Given the description of an element on the screen output the (x, y) to click on. 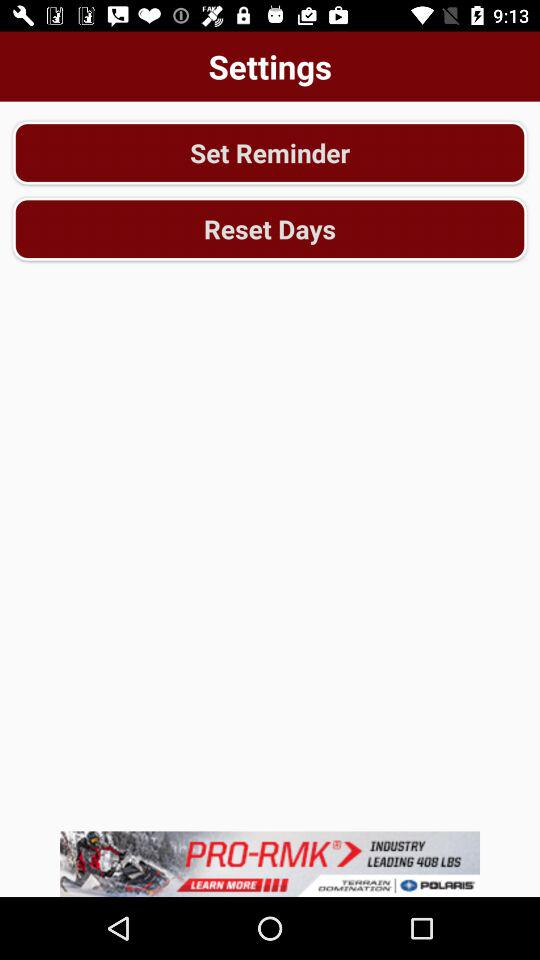
view advert (270, 864)
